Given the description of an element on the screen output the (x, y) to click on. 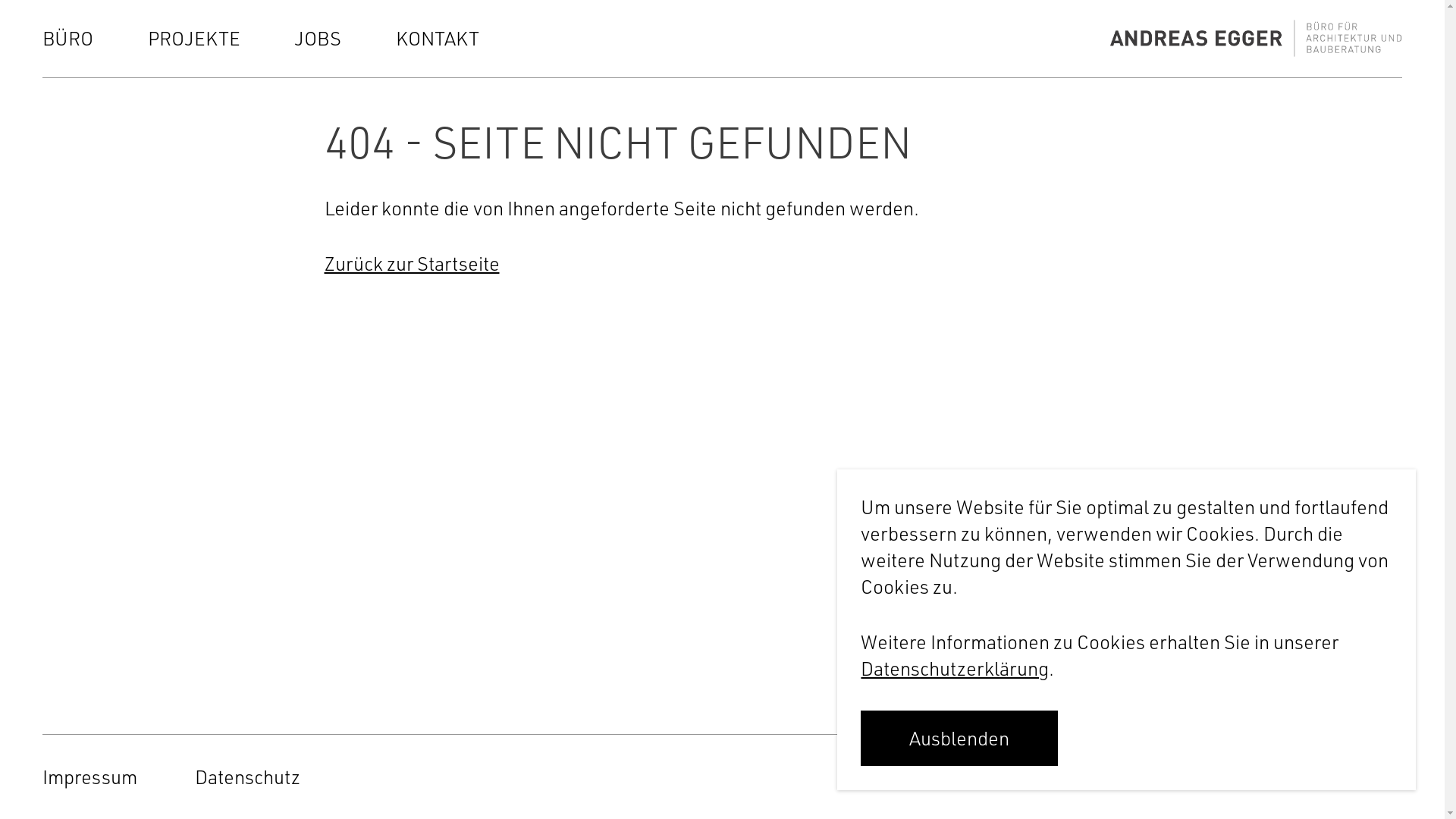
Ausblenden Element type: text (958, 737)
Zur Startseite Element type: hover (1255, 37)
Datenschutz Element type: text (247, 775)
PROJEKTE Element type: text (193, 37)
KONTAKT Element type: text (437, 37)
JOBS Element type: text (317, 37)
Impressum Element type: text (89, 775)
